Given the description of an element on the screen output the (x, y) to click on. 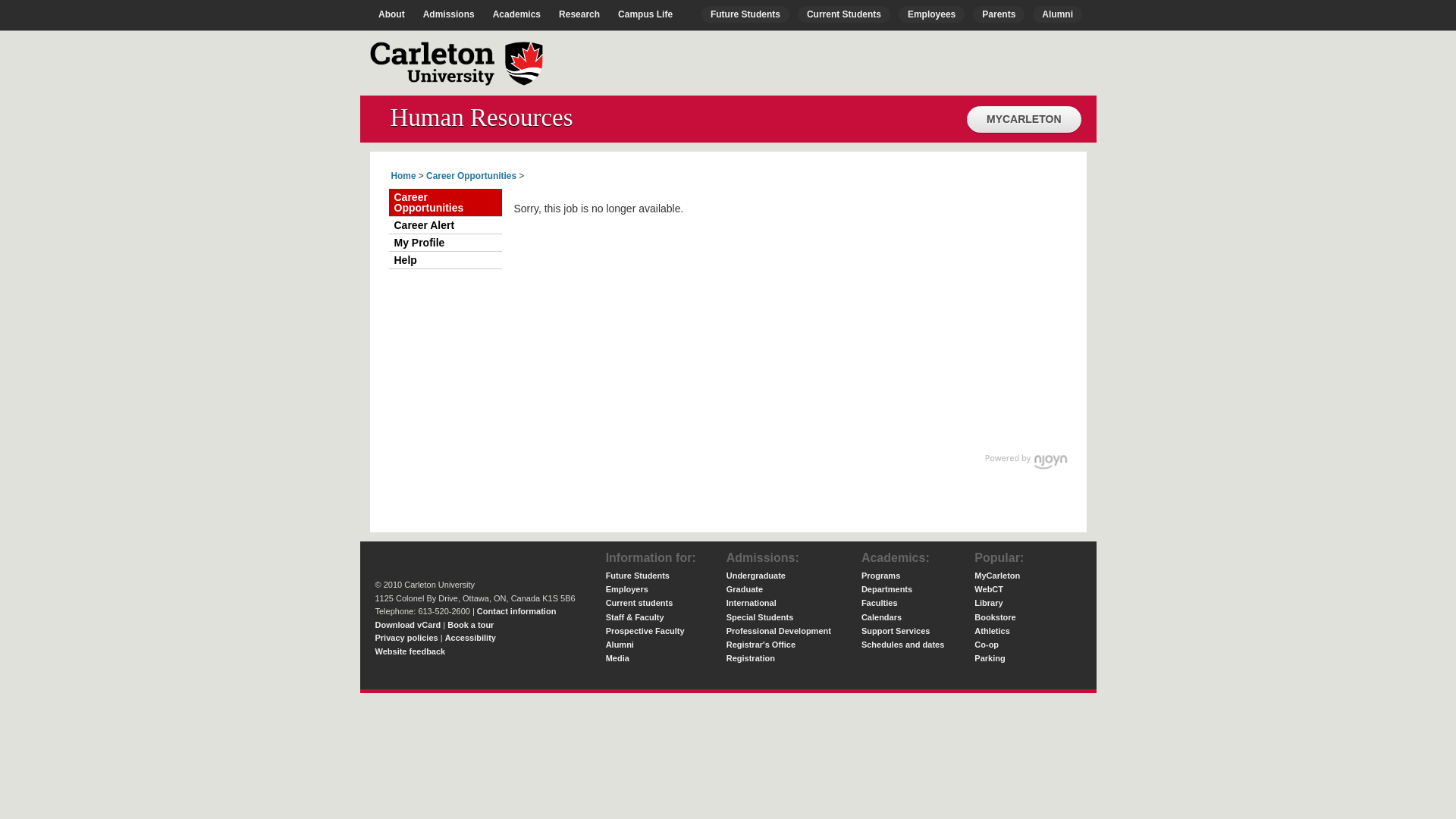
Alumni website (1056, 13)
Homepage and content for staff and faculty (930, 13)
Alumni (1056, 13)
Homepage and content for current students (843, 13)
Academics (516, 21)
Homepage and content for future students (745, 13)
Homepage and content for parents (998, 13)
Research (579, 21)
Current Students (843, 13)
Campus Life (644, 21)
Future Students (745, 13)
Admissions (448, 21)
About (391, 21)
Employees (930, 13)
Parents (998, 13)
